Given the description of an element on the screen output the (x, y) to click on. 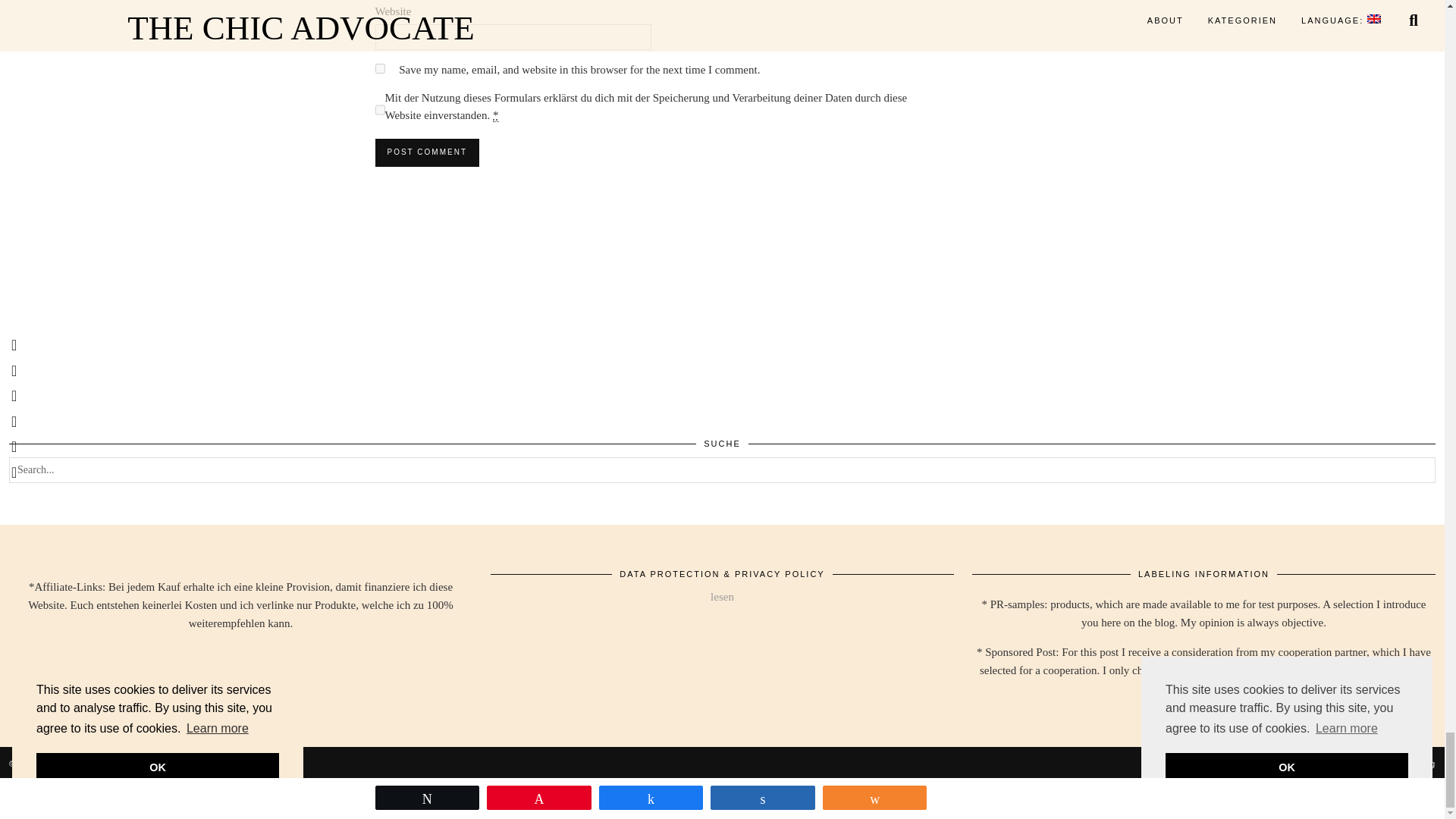
Post Comment (426, 152)
yes (379, 68)
